Given the description of an element on the screen output the (x, y) to click on. 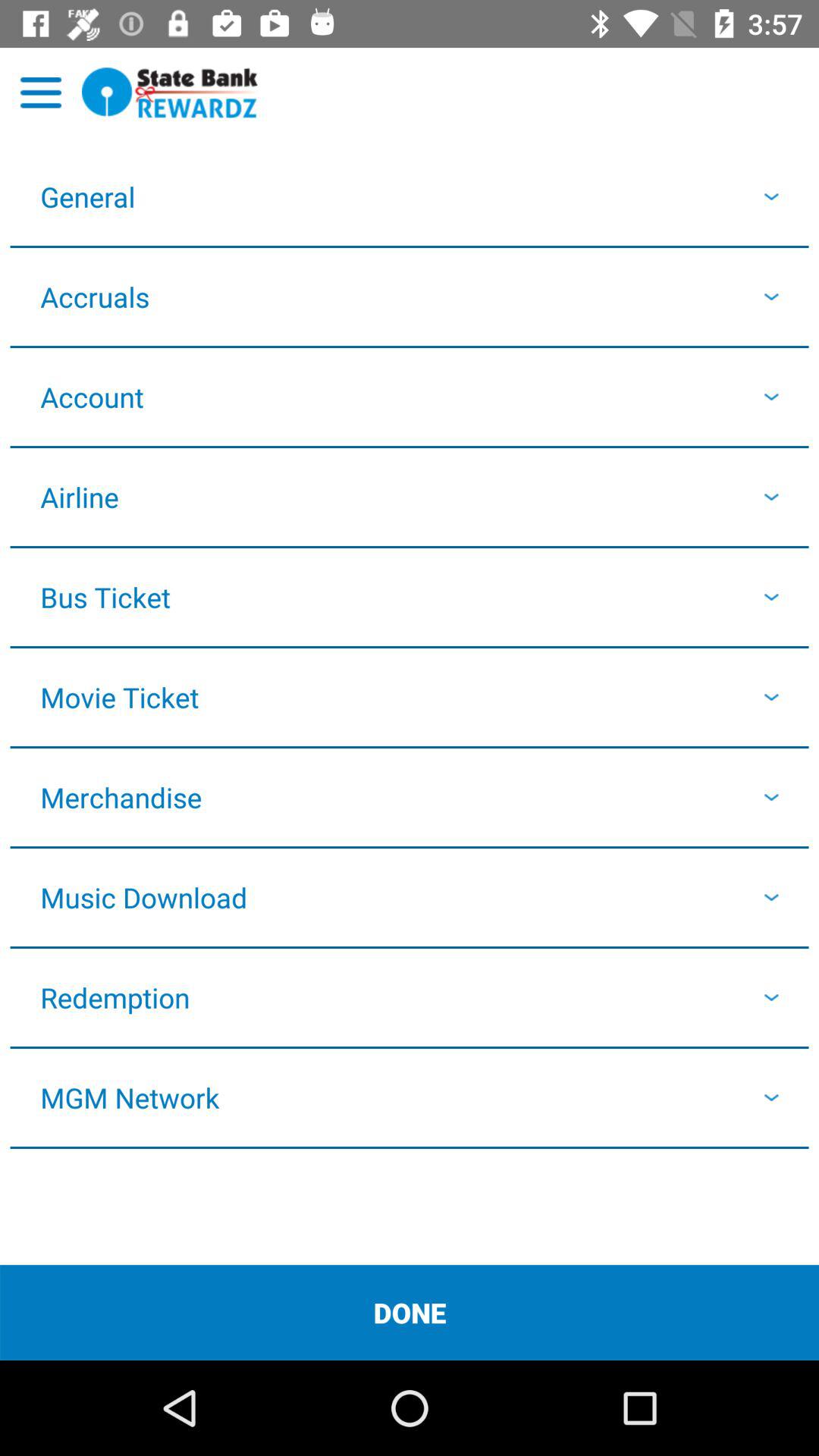
open menu (40, 92)
